Given the description of an element on the screen output the (x, y) to click on. 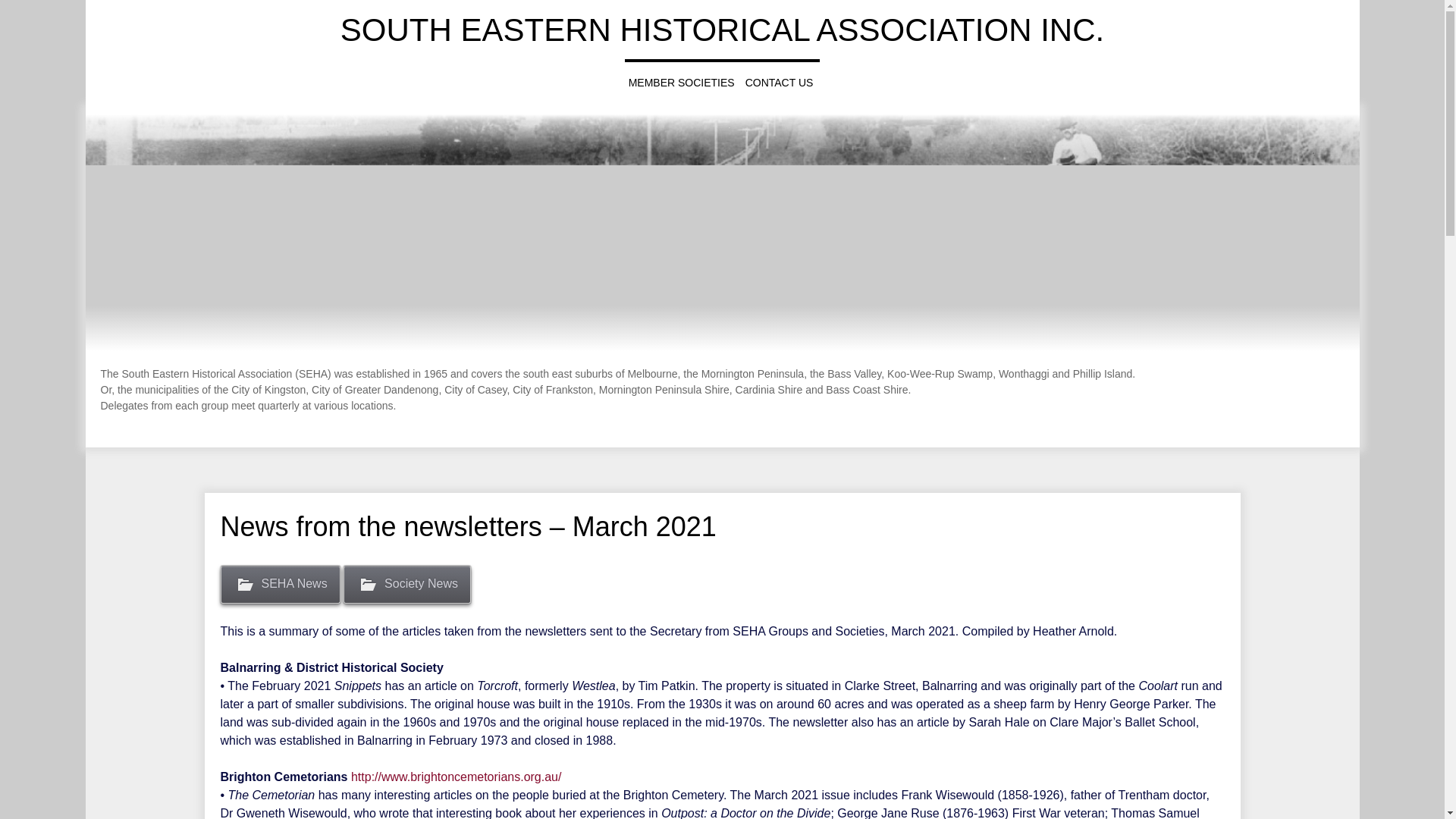
SOUTH EASTERN HISTORICAL ASSOCIATION INC. (721, 30)
SEHA News (279, 584)
CONTACT US (778, 82)
Society News (406, 584)
MEMBER SOCIETIES (681, 82)
